Given the description of an element on the screen output the (x, y) to click on. 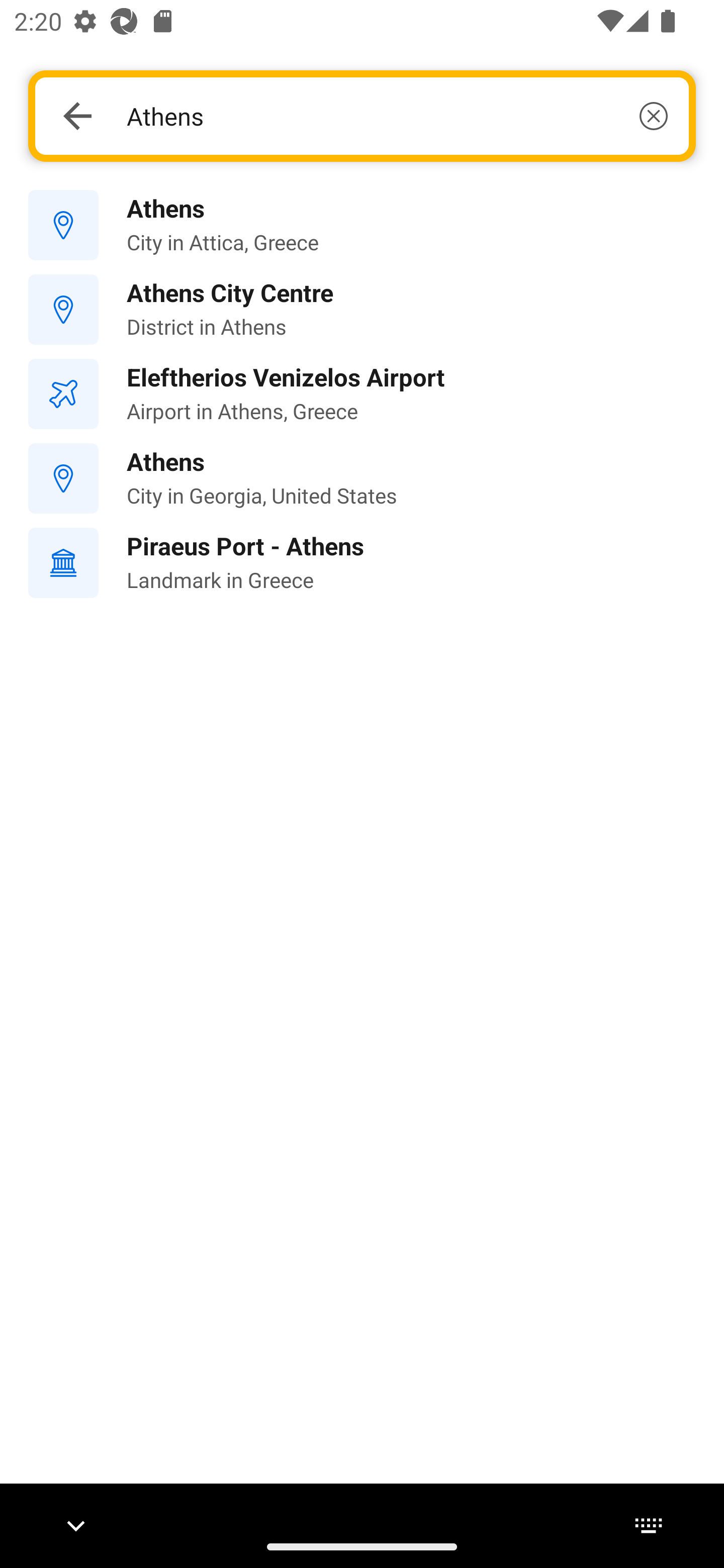
Athens (396, 115)
Athens City in Attica, Greece (362, 225)
Athens City Centre District in Athens (362, 309)
Athens City in Georgia, United States (362, 477)
Piraeus Port - Athens Landmark in Greece (362, 562)
